Given the description of an element on the screen output the (x, y) to click on. 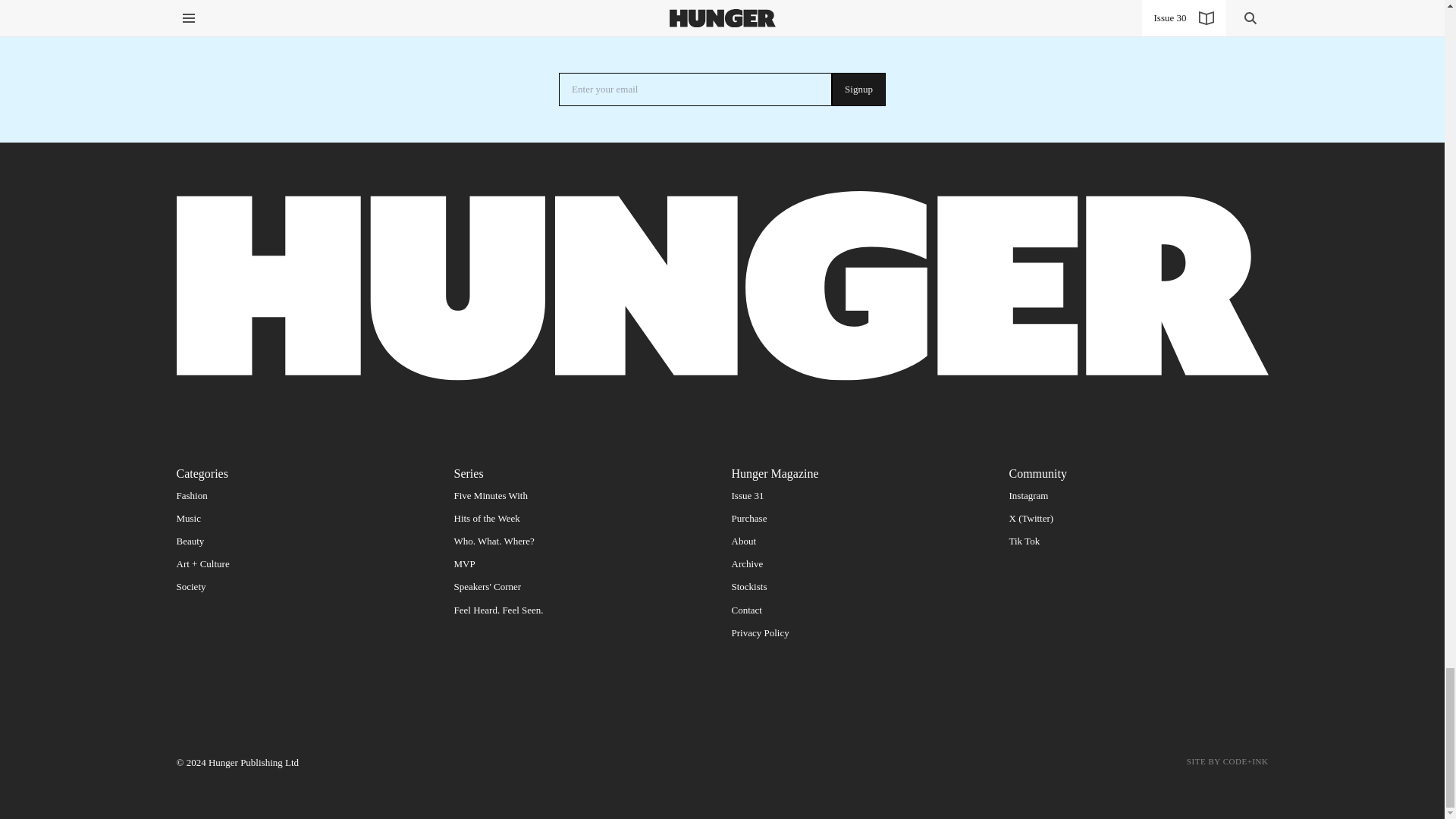
Beauty (189, 541)
Society (190, 586)
Who. What. Where? (493, 541)
Fashion (191, 495)
MVP (463, 563)
Feel Heard. Feel Seen. (497, 609)
Five Minutes With (489, 495)
Signup (858, 89)
Hits of the Week (485, 518)
Issue 31 (746, 495)
Music (188, 518)
Speakers' Corner (486, 586)
